Given the description of an element on the screen output the (x, y) to click on. 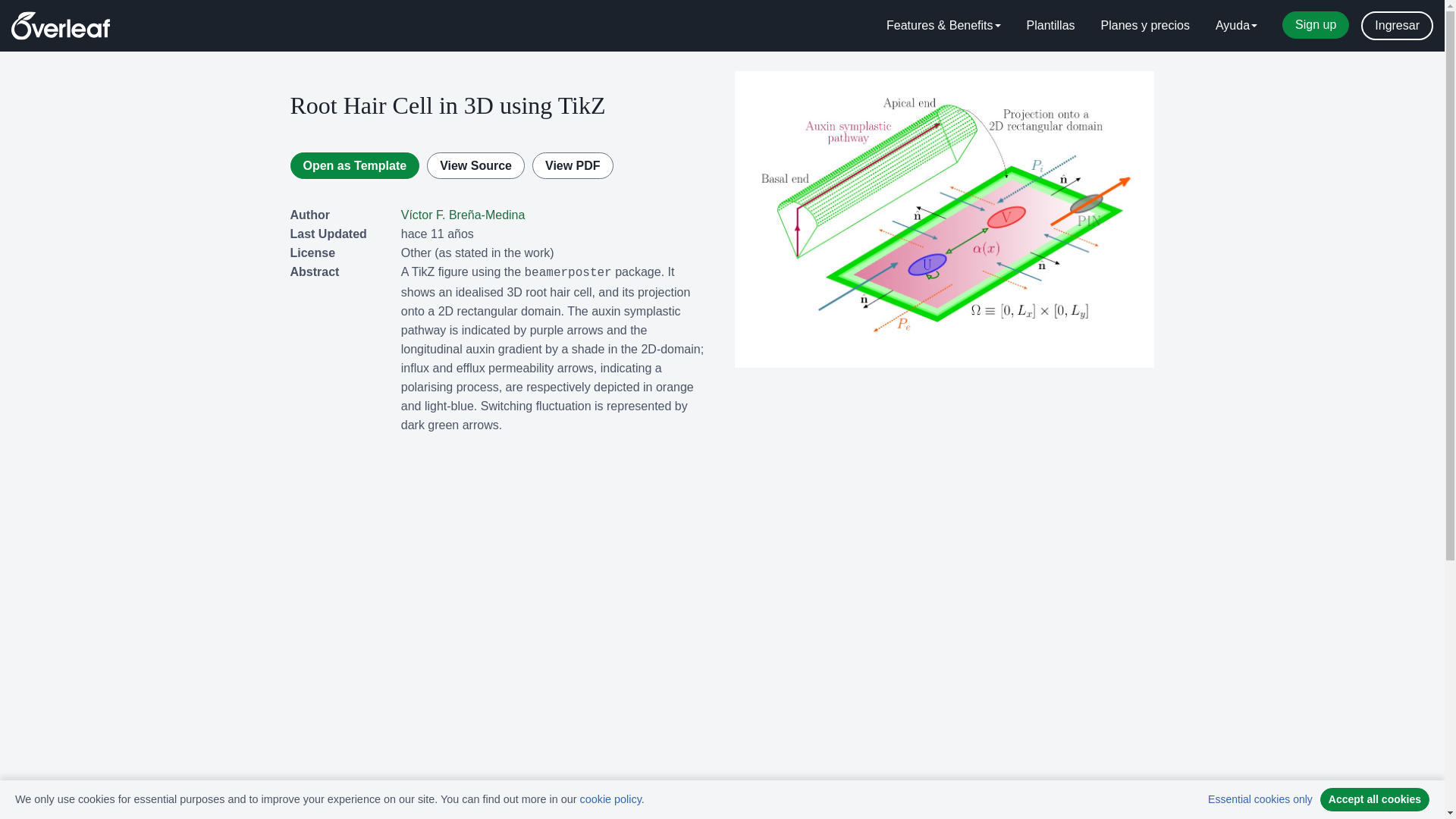
View Source (475, 165)
Planes y precios (1144, 25)
Sign up (1315, 24)
Plantillas (1050, 25)
Open as Template (354, 165)
Ingresar (1396, 25)
Ayuda (1235, 25)
View PDF (572, 165)
